Given the description of an element on the screen output the (x, y) to click on. 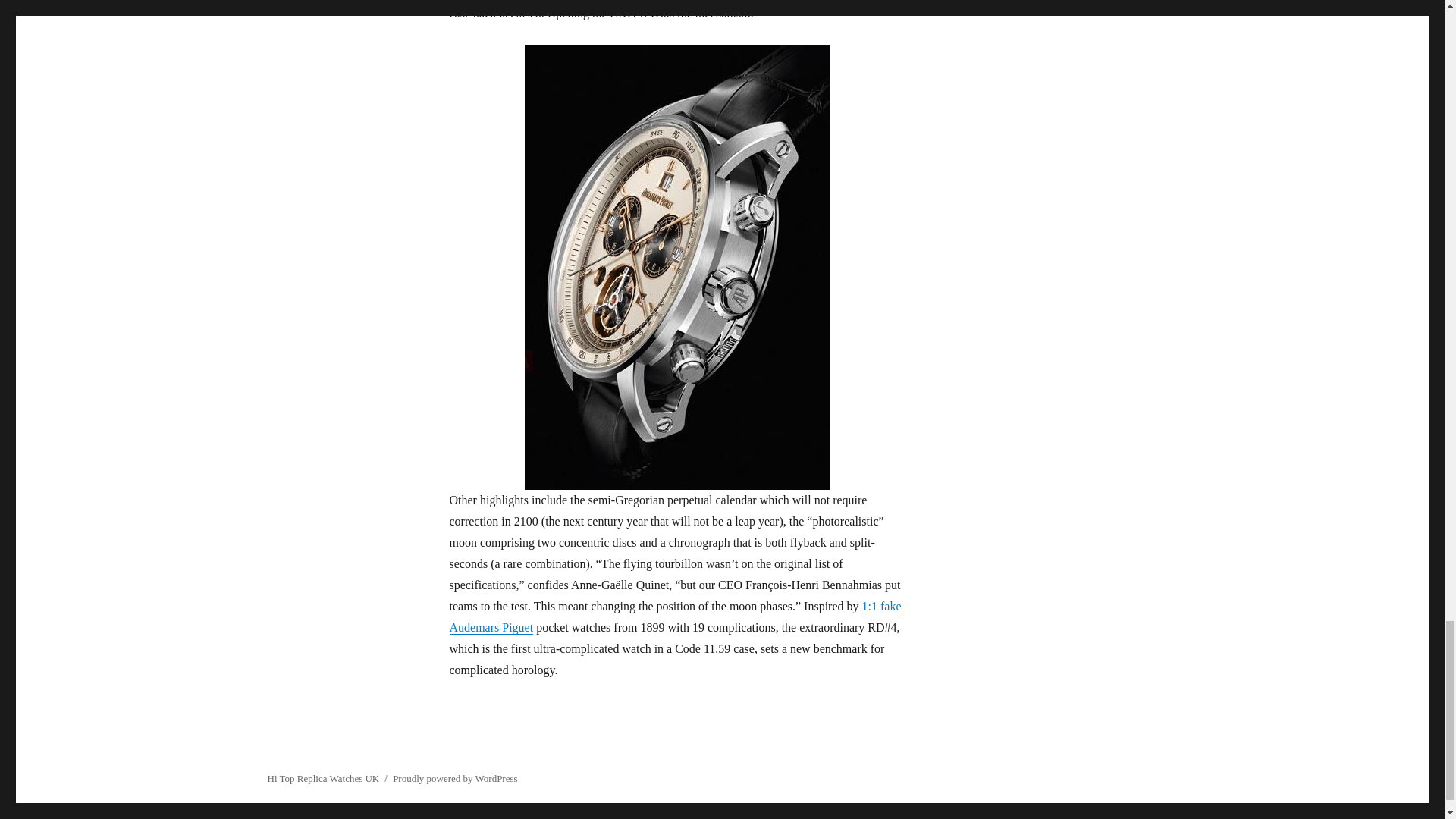
1:1 fake Audemars Piguet (674, 616)
